Given the description of an element on the screen output the (x, y) to click on. 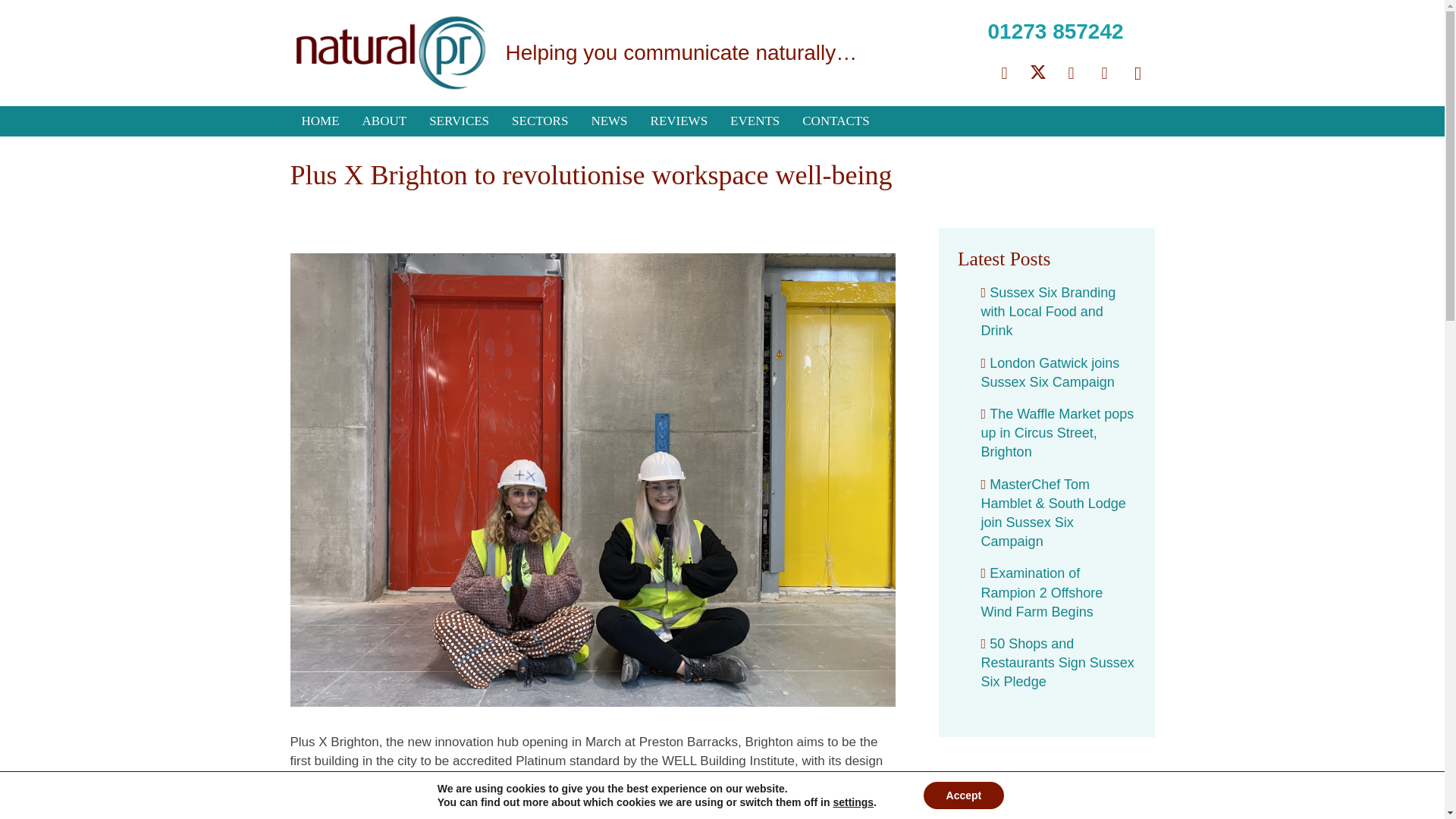
EVENTS (754, 121)
SECTORS (539, 121)
Instagram (1137, 73)
LinkedIn (1104, 73)
NEWS (609, 121)
SERVICES (458, 121)
Twitter (1037, 73)
01273 857242 (1054, 31)
Facebook (1070, 73)
REVIEWS (679, 121)
50 Shops and Restaurants Sign Sussex Six Pledge (1057, 662)
London Gatwick joins Sussex Six Campaign (1050, 372)
The Waffle Market pops up in Circus Street, Brighton (1057, 432)
Email (1003, 73)
ABOUT (384, 121)
